Given the description of an element on the screen output the (x, y) to click on. 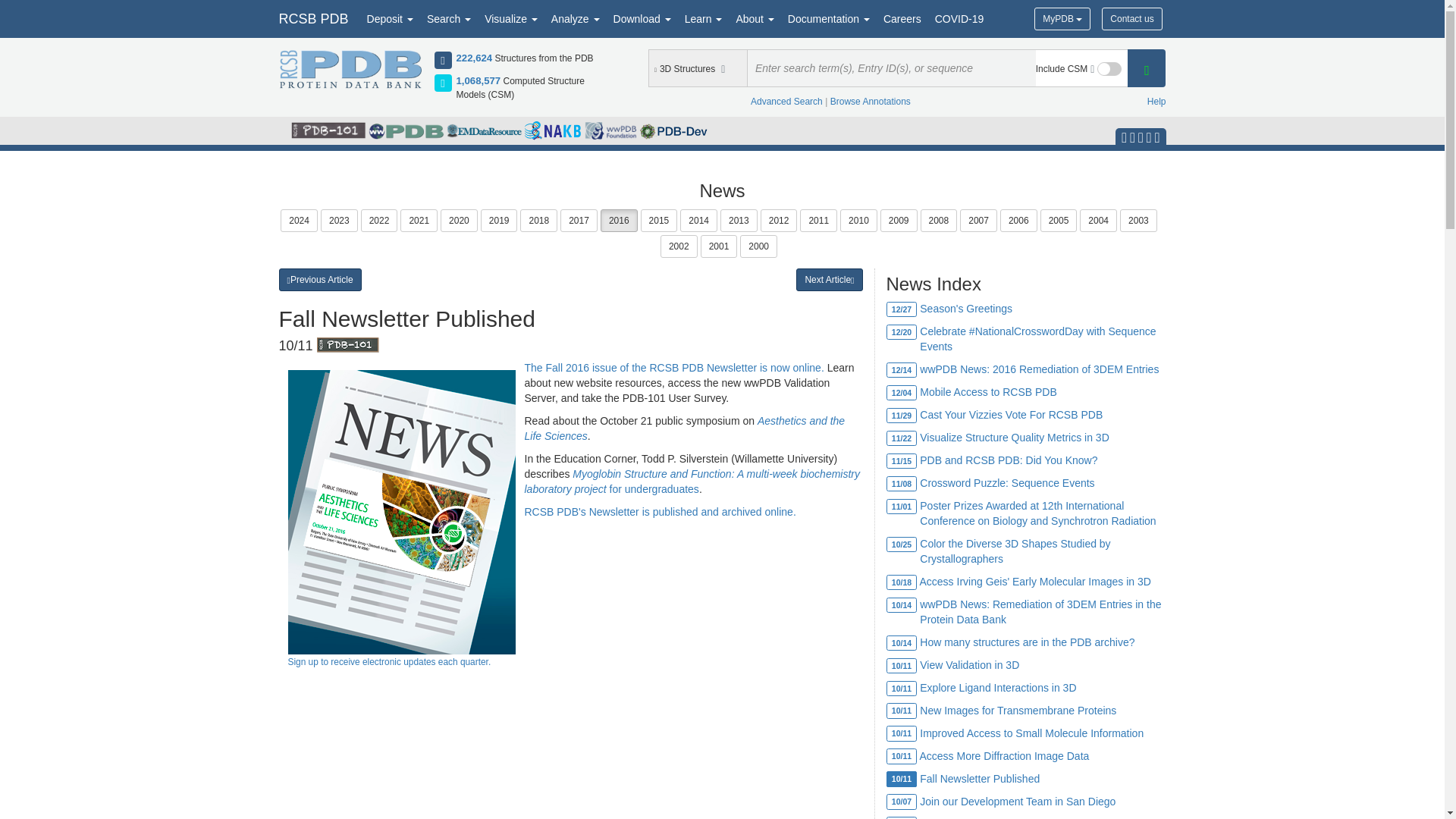
MyPDB (1061, 18)
Deposit  (389, 18)
Search  (448, 18)
RCSB PDB (312, 18)
